Given the description of an element on the screen output the (x, y) to click on. 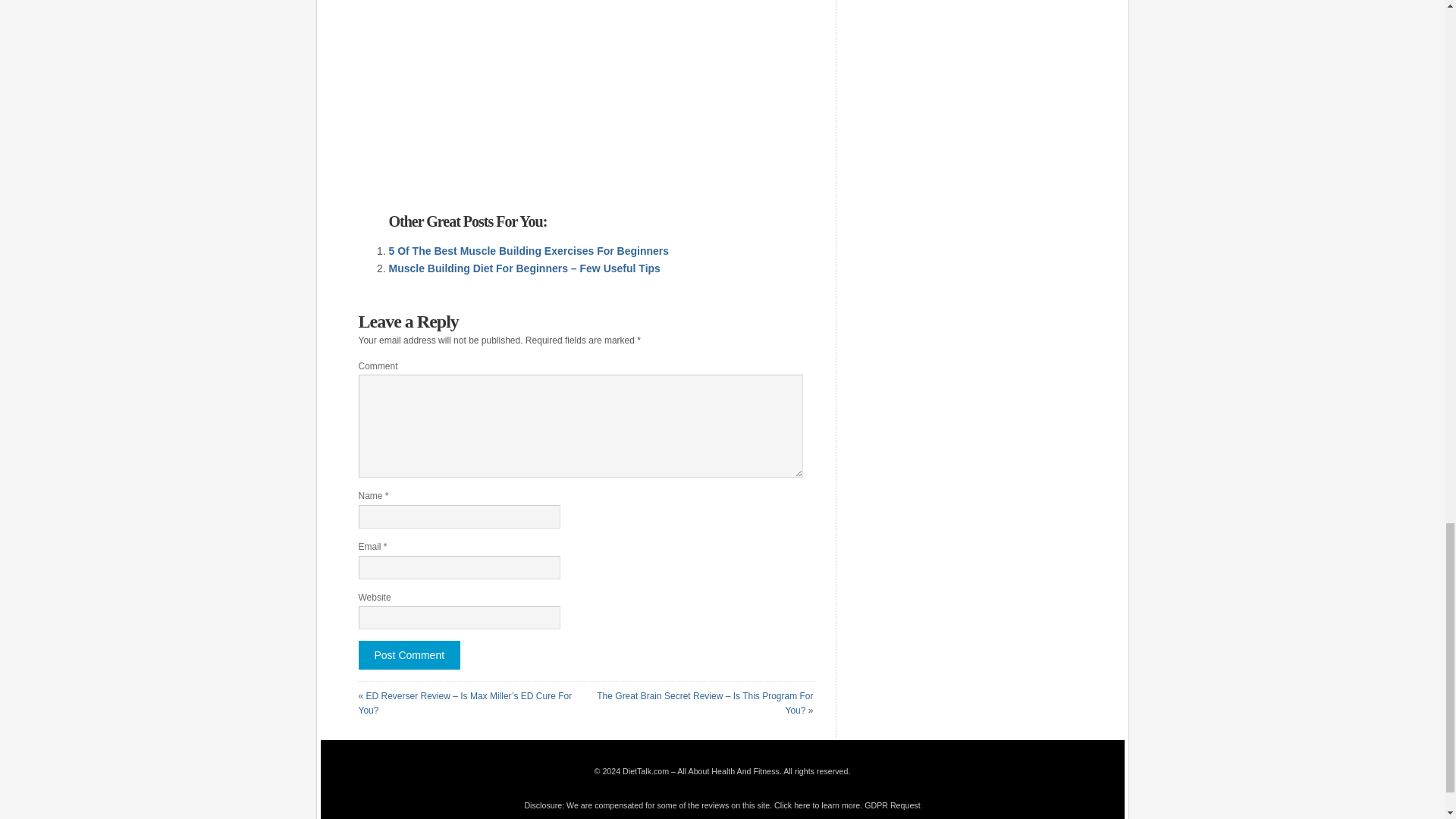
Post Comment (409, 654)
Click here (791, 804)
5 Of The Best Muscle Building Exercises For Beginners (528, 250)
Post Comment (409, 654)
5 Of The Best Muscle Building Exercises For Beginners (528, 250)
